Given the description of an element on the screen output the (x, y) to click on. 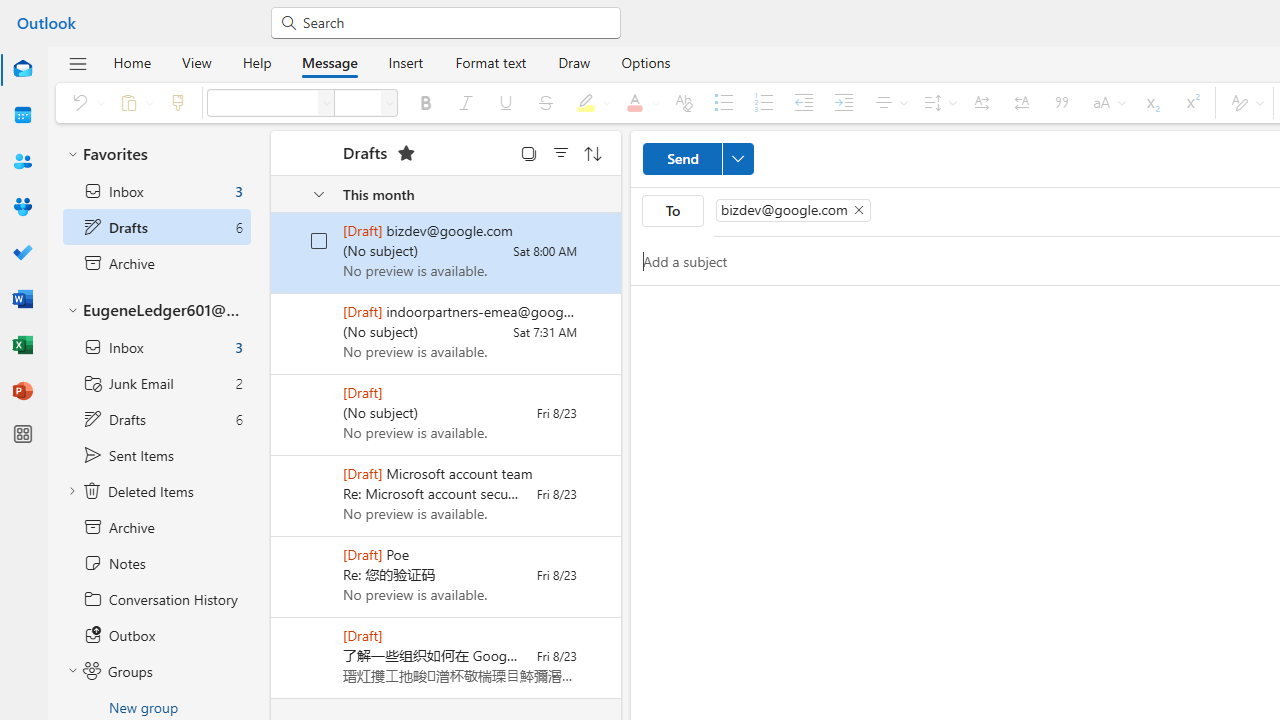
Select a message (305, 645)
Bold (425, 102)
Favorites (156, 154)
Underline (506, 102)
Right-to-left (1021, 102)
Calendar (22, 115)
Format text (490, 61)
Strikethrough (545, 102)
Quote (1061, 102)
Draw (573, 61)
Conversation History (156, 599)
People (22, 161)
Change case (1106, 102)
Send (697, 158)
